Given the description of an element on the screen output the (x, y) to click on. 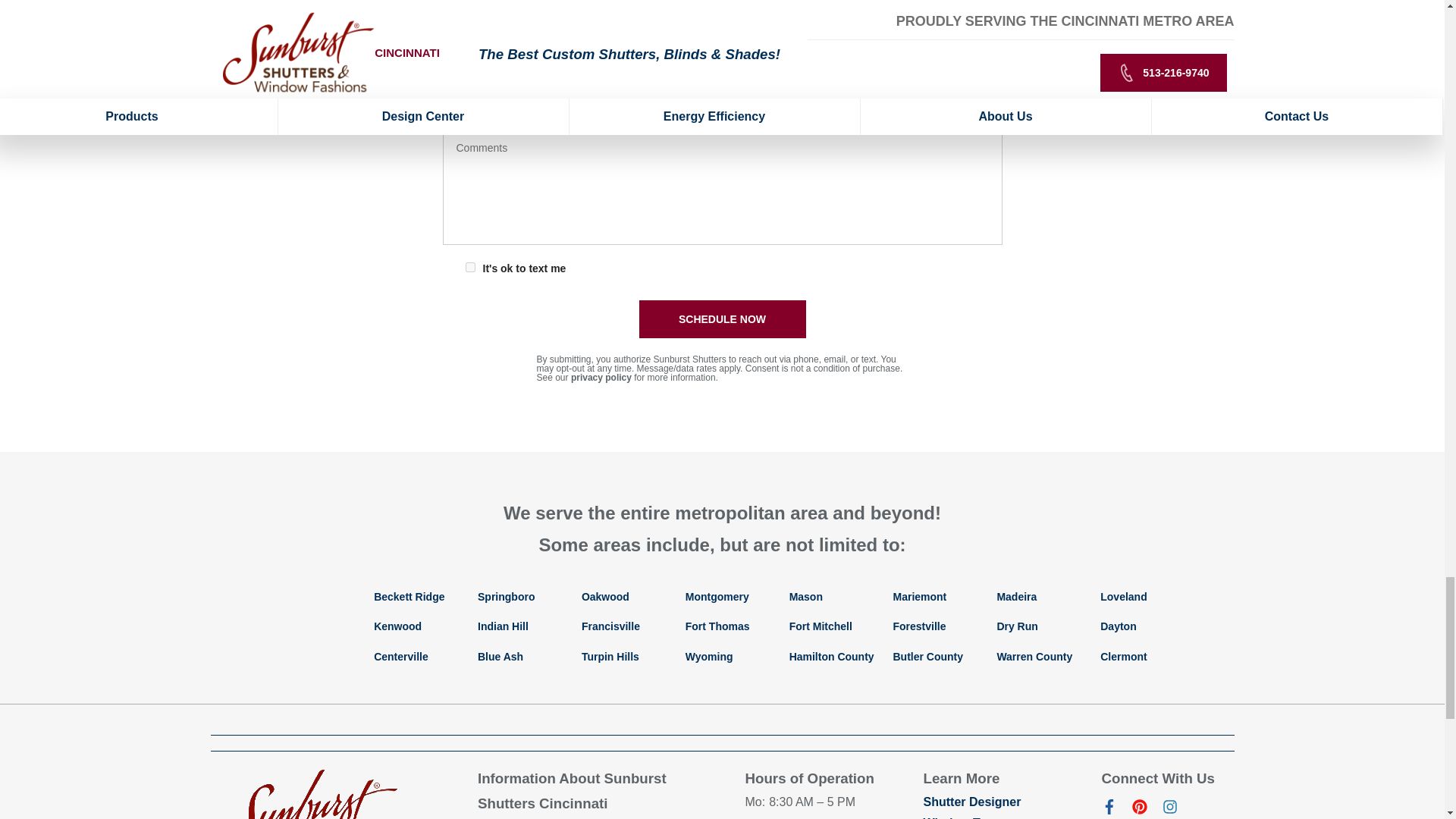
on (470, 266)
SCHEDULE NOW (722, 319)
Follow us on Pinterest (1139, 809)
Follow us on Instagram (1168, 809)
Like us on Facebook (1108, 809)
